Given the description of an element on the screen output the (x, y) to click on. 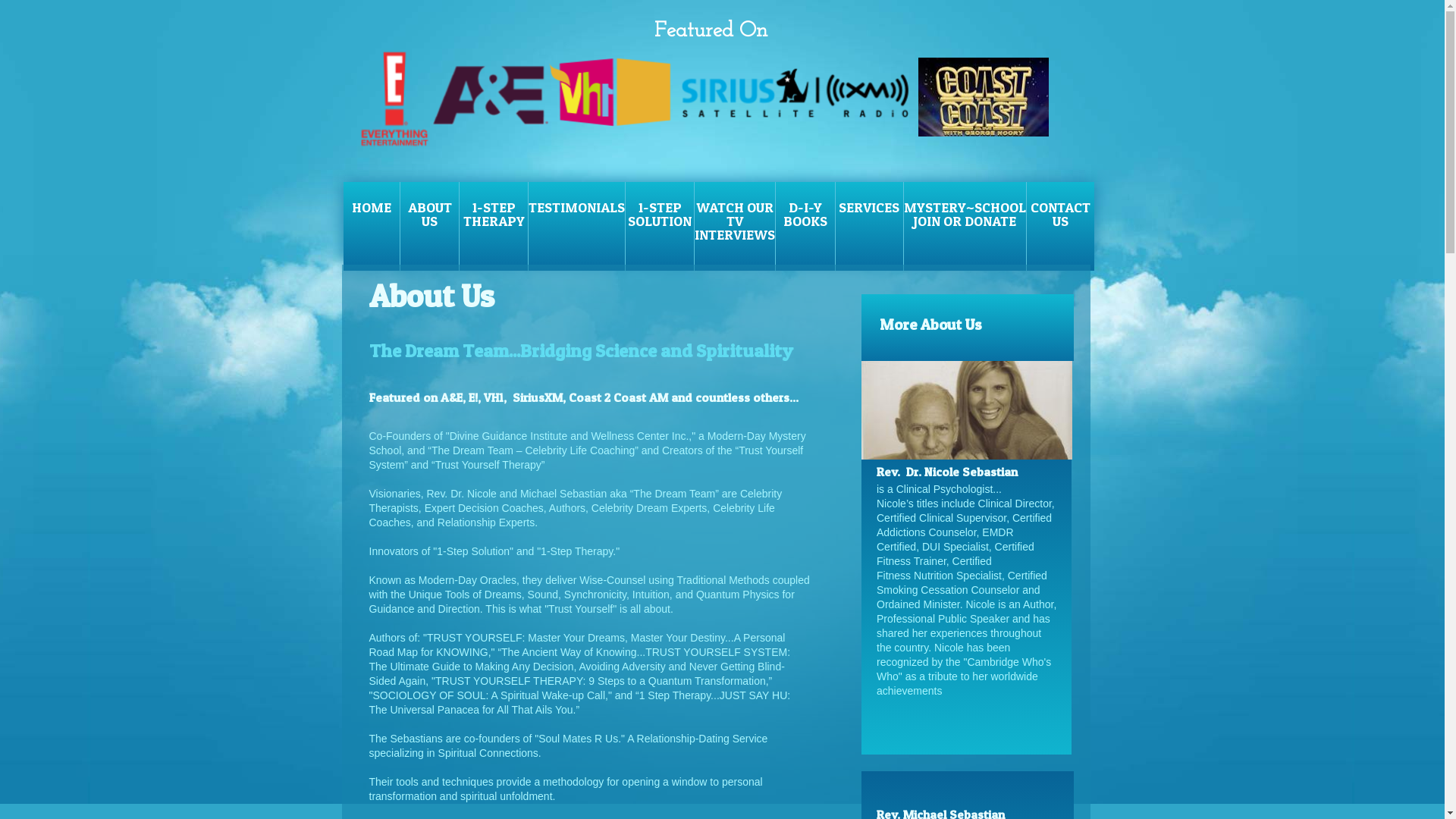
CONTACT US Element type: text (1060, 226)
TESTIMONIALS Element type: text (576, 226)
MYSTERY~SCHOOL JOIN OR DONATE Element type: text (964, 226)
ABOUT US Element type: text (429, 226)
1-STEP THERAPY Element type: text (493, 226)
WATCH OUR TV INTERVIEWS Element type: text (734, 226)
1-STEP SOLUTION Element type: text (660, 226)
HOME Element type: text (370, 226)
SERVICES Element type: text (869, 226)
D-I-Y BOOKS Element type: text (804, 226)
